Given the description of an element on the screen output the (x, y) to click on. 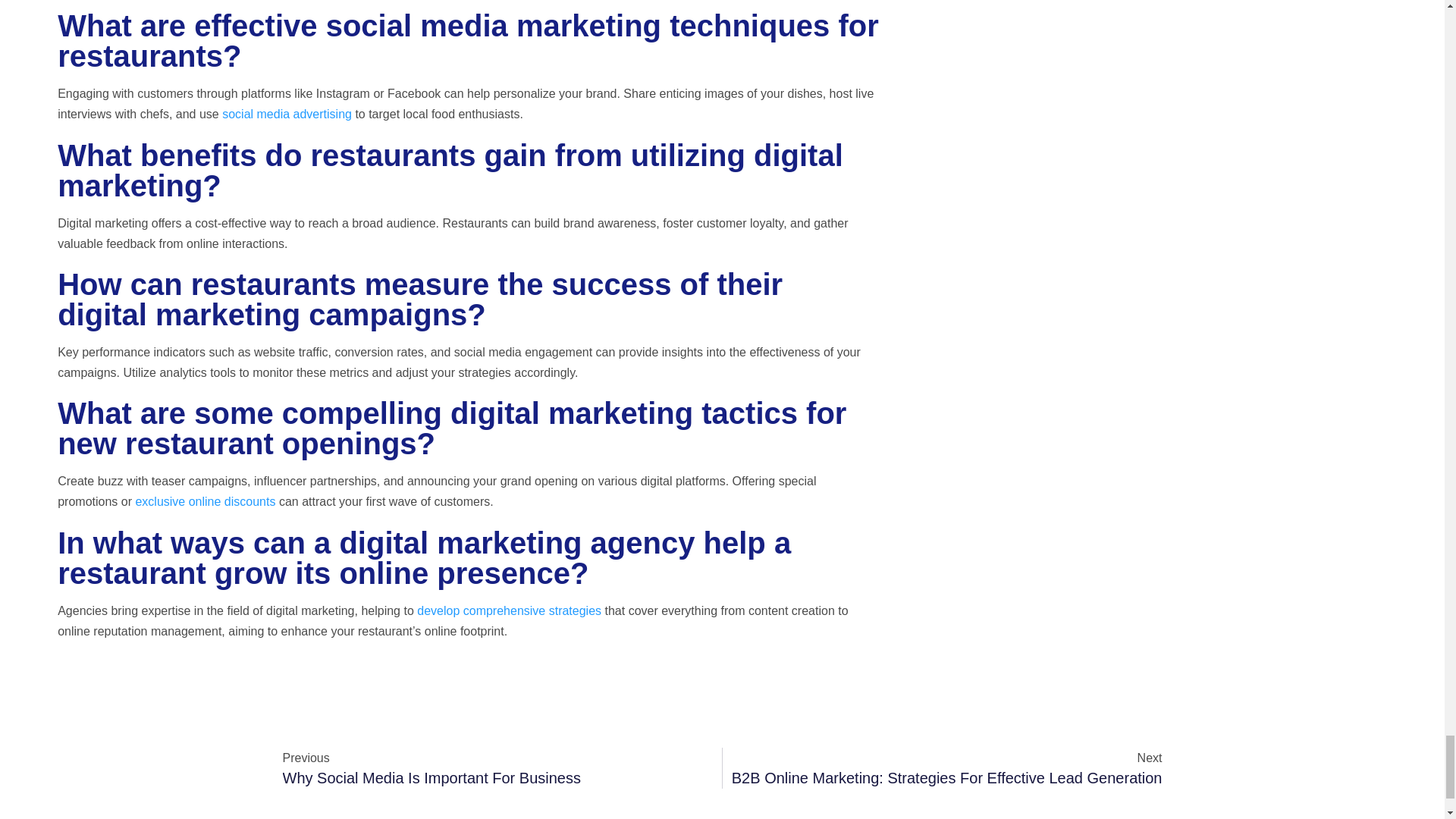
develop comprehensive strategies (508, 610)
social media advertising (287, 113)
exclusive online discounts (205, 501)
